Given the description of an element on the screen output the (x, y) to click on. 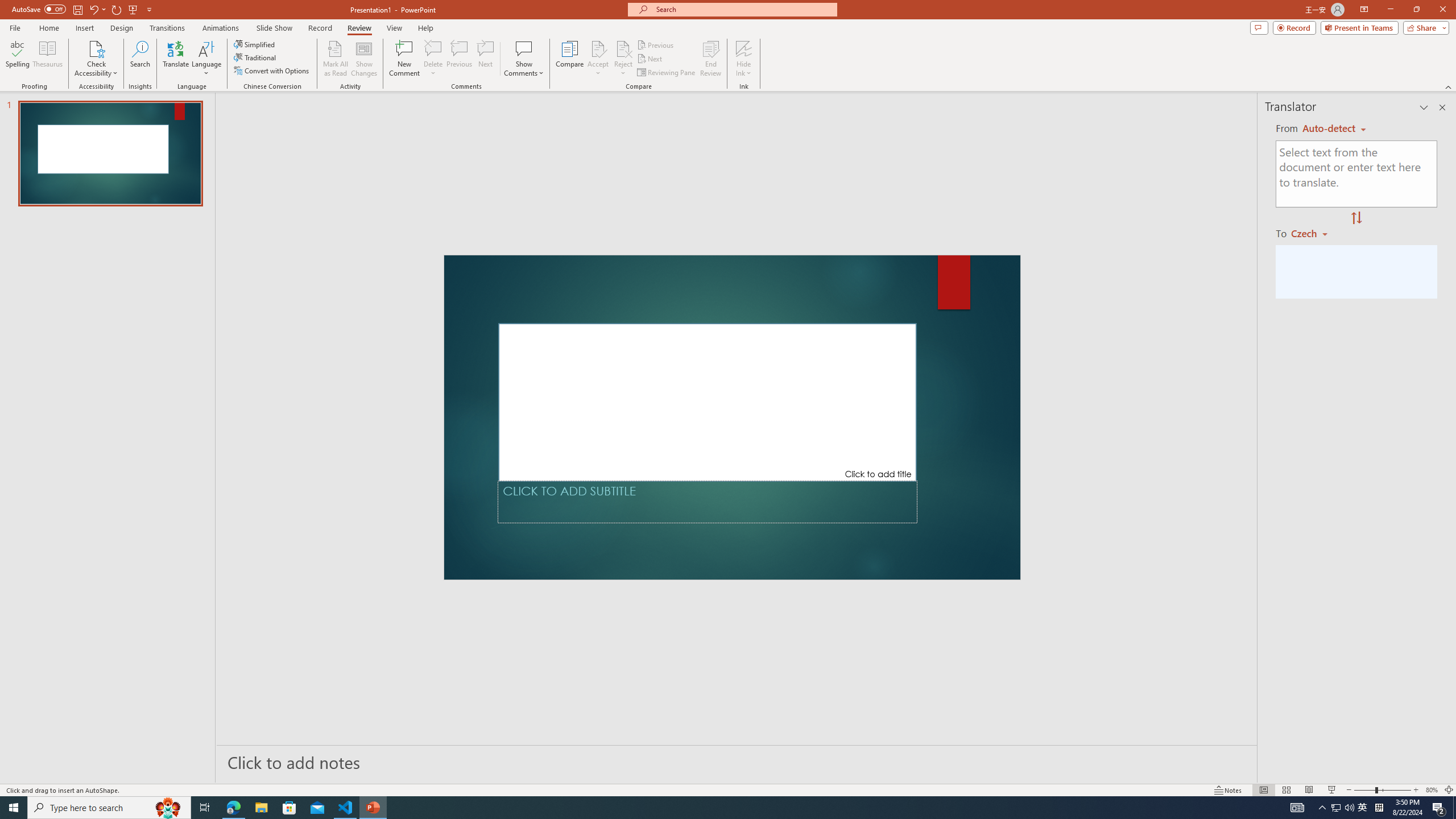
Reject (622, 58)
Swap "from" and "to" languages. (1355, 218)
Next (649, 58)
Czech (1313, 232)
